Given the description of an element on the screen output the (x, y) to click on. 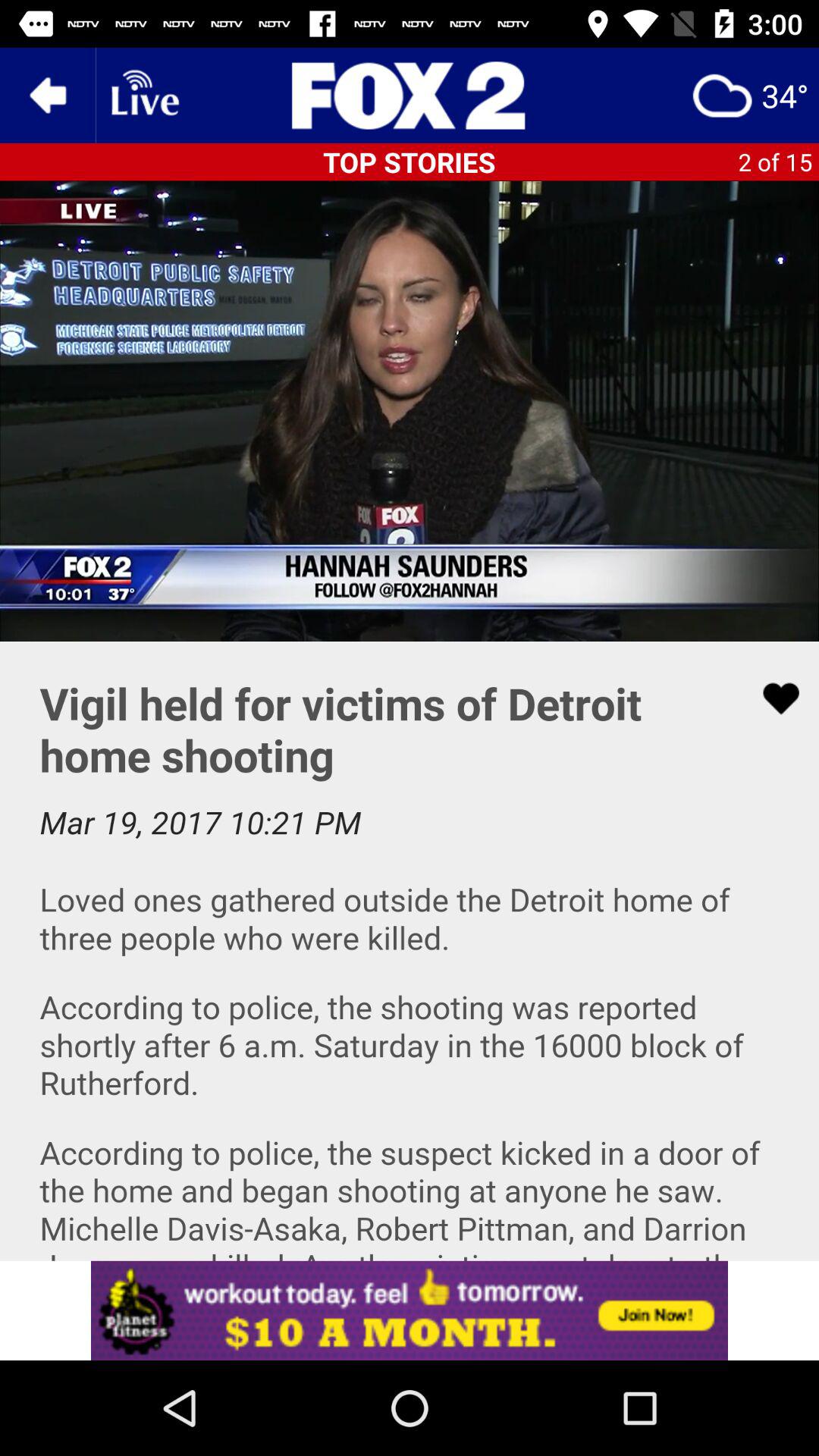
advertisement (409, 1310)
